Given the description of an element on the screen output the (x, y) to click on. 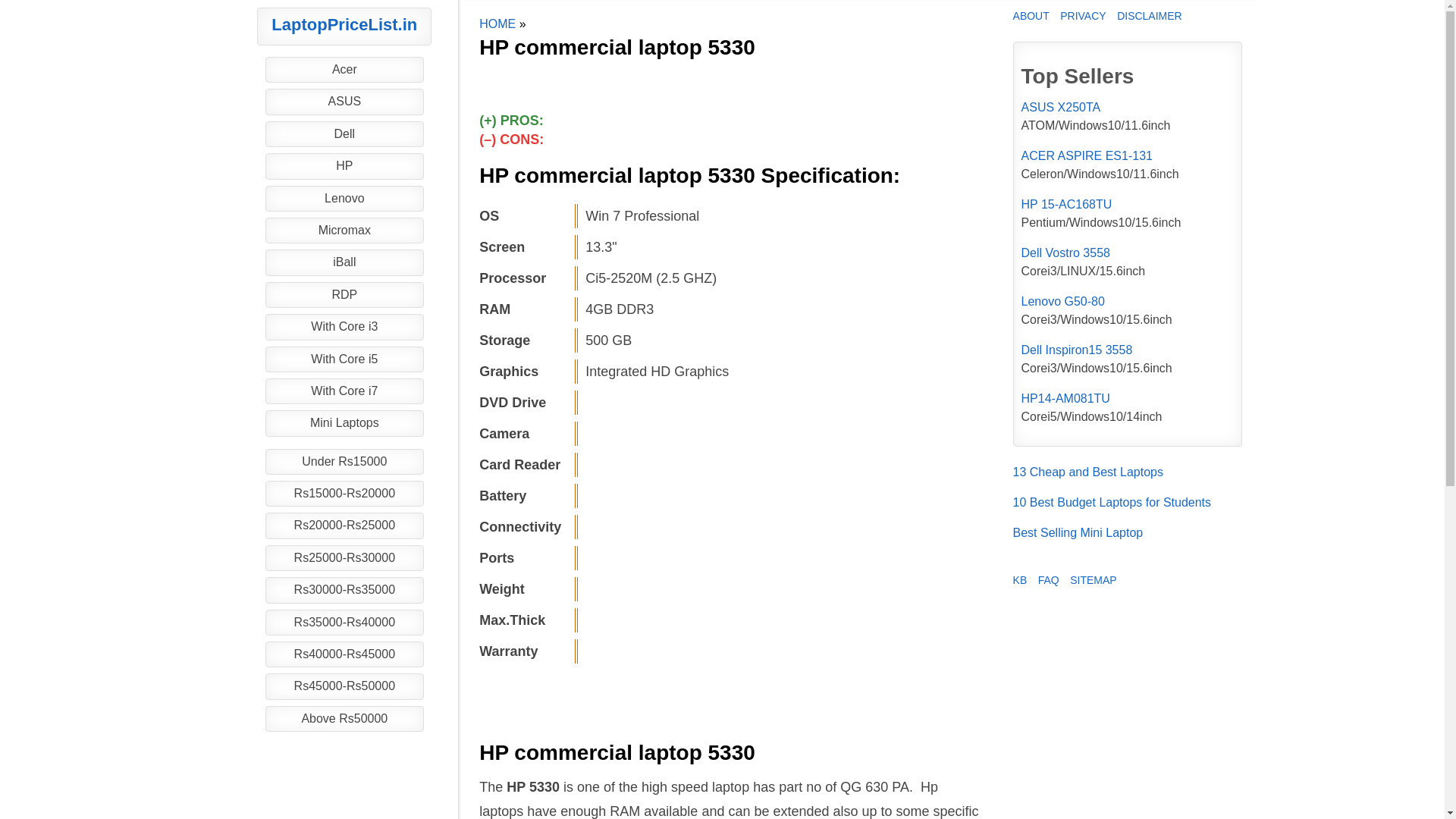
Rs40000-Rs45000 (343, 654)
Laptops Under 25000 Rupees (343, 525)
Laptops Under 35000 Rupees (343, 589)
Laptops with Core i7 Processor Price (343, 391)
Laptops Under 40000 Rupees (343, 622)
FAQ (1048, 580)
RDP (343, 294)
Mini Laptops (343, 422)
ACER ASPIRE ES1-131 (1087, 155)
SITEMAP (1093, 580)
